Given the description of an element on the screen output the (x, y) to click on. 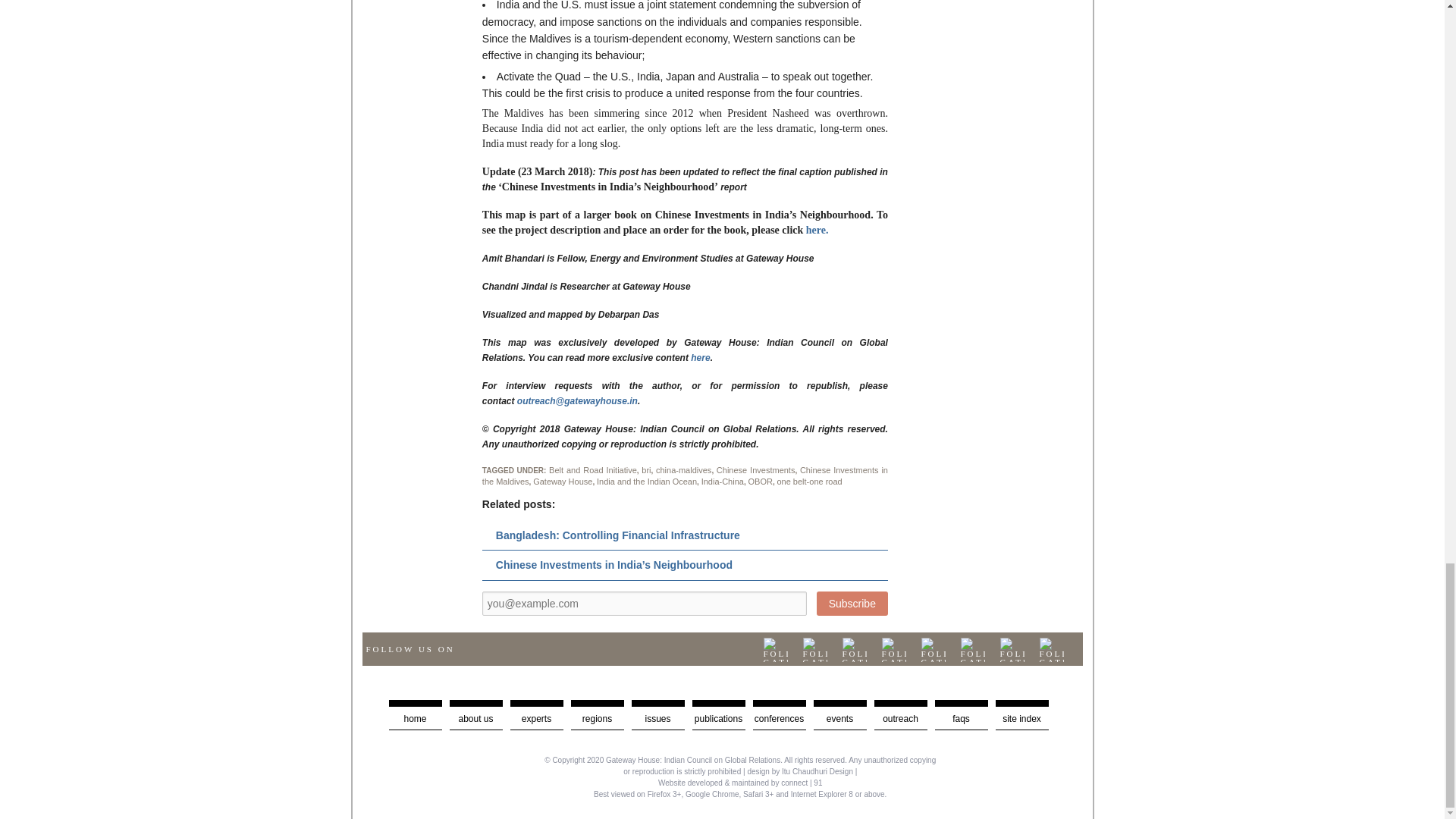
Bangladesh: Controlling Financial Infrastructure (617, 535)
Subscribe (852, 603)
